Given the description of an element on the screen output the (x, y) to click on. 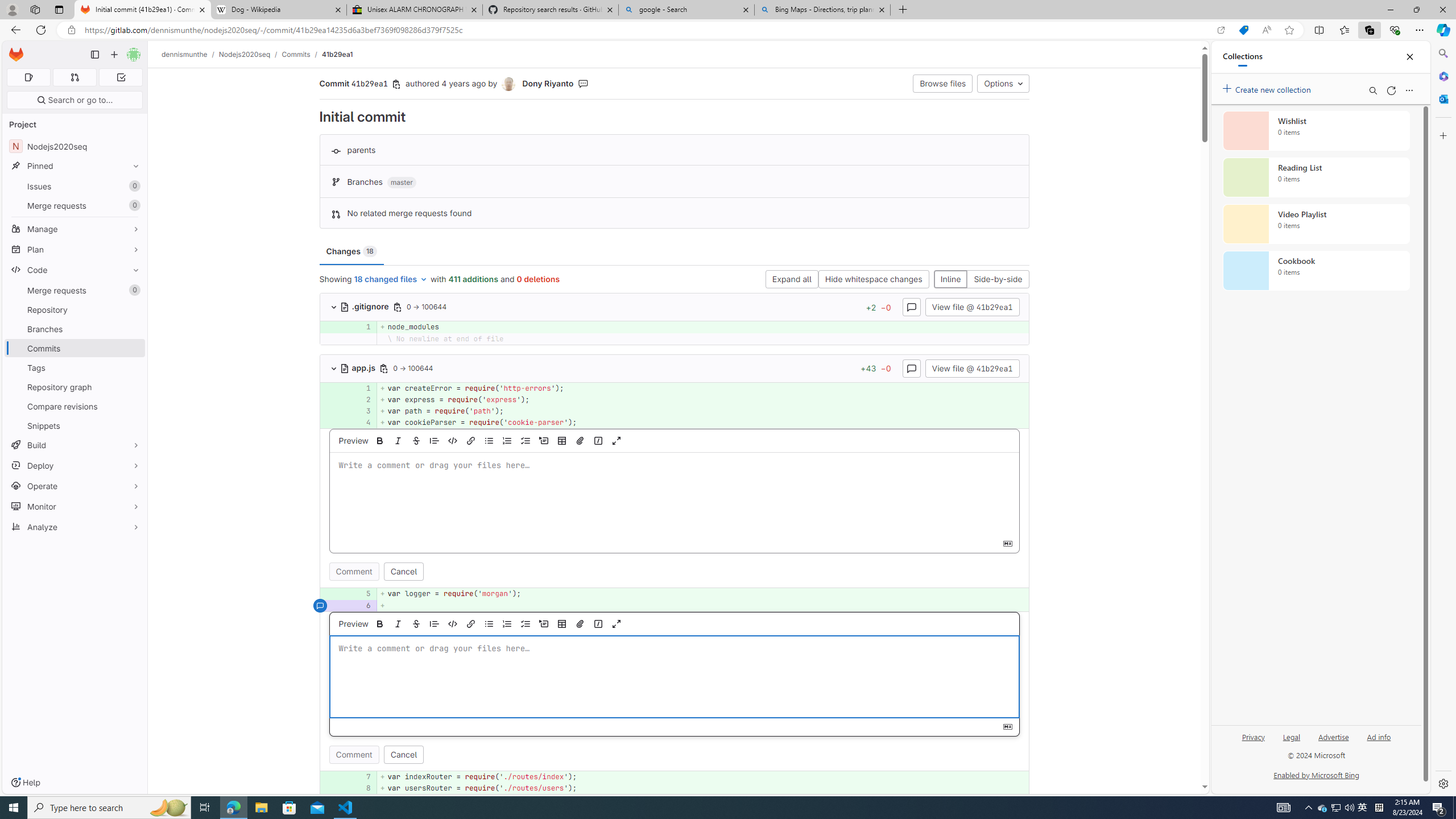
Copy file path (384, 368)
+  (703, 605)
Add a quick action (598, 623)
Class: s16 gl-icon gl-button-icon  (1007, 726)
Changes 18 (351, 251)
Add italic text (Ctrl+I) (397, 623)
Pin Compare revisions (132, 406)
Commits (74, 348)
Repository (74, 309)
41b29ea1 (337, 53)
Branches (74, 328)
Attach a file or image (579, 623)
